Given the description of an element on the screen output the (x, y) to click on. 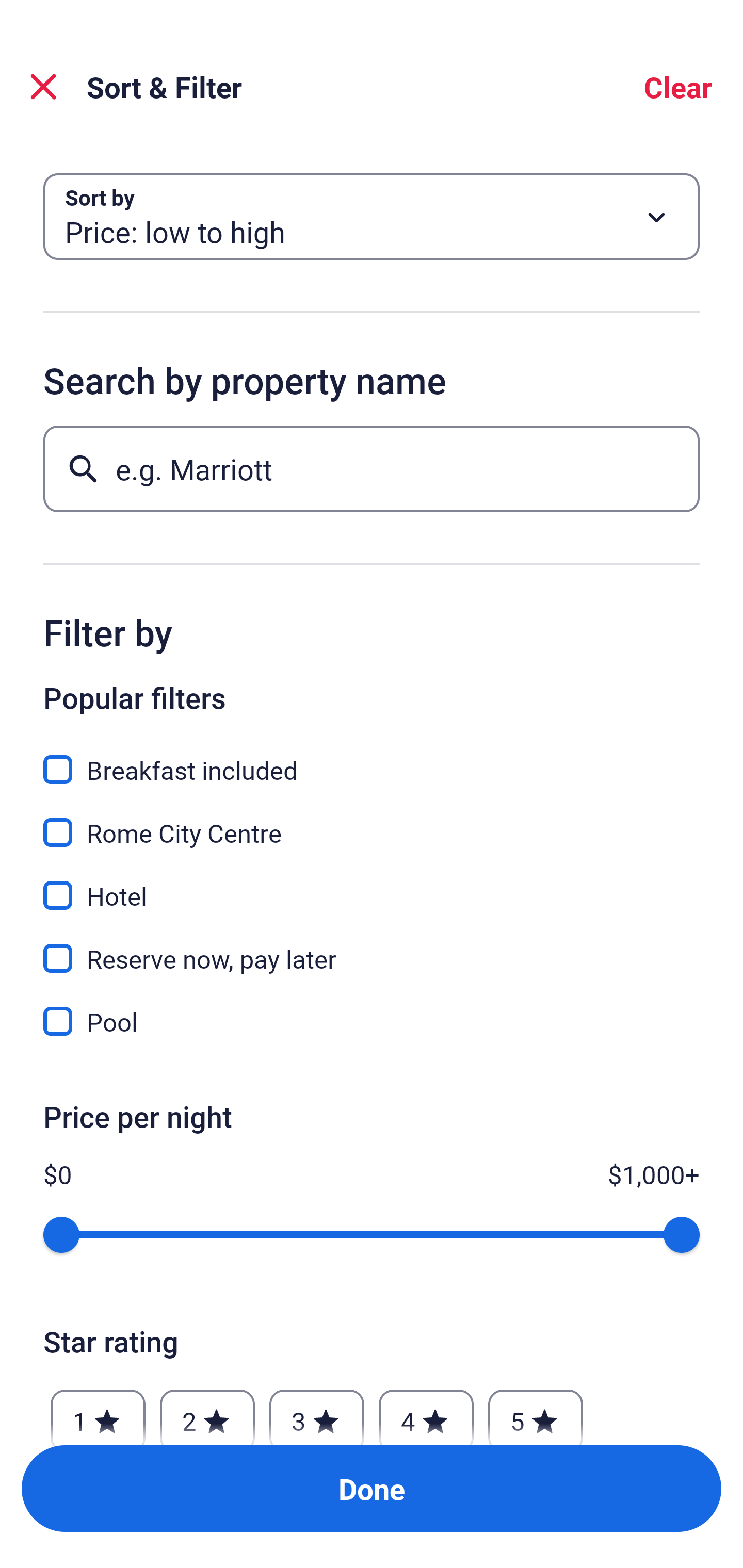
Close Sort and Filter (43, 86)
Clear (677, 86)
Sort by Button Price: low to high (371, 217)
e.g. Marriott Button (371, 468)
Breakfast included, Breakfast included (371, 757)
Rome City Centre, Rome City Centre (371, 821)
Hotel, Hotel (371, 883)
Reserve now, pay later, Reserve now, pay later (371, 946)
Pool, Pool (371, 1021)
1 (97, 1411)
2 (206, 1411)
3 (316, 1411)
4 (426, 1411)
5 (535, 1411)
Apply and close Sort and Filter Done (371, 1488)
